Given the description of an element on the screen output the (x, y) to click on. 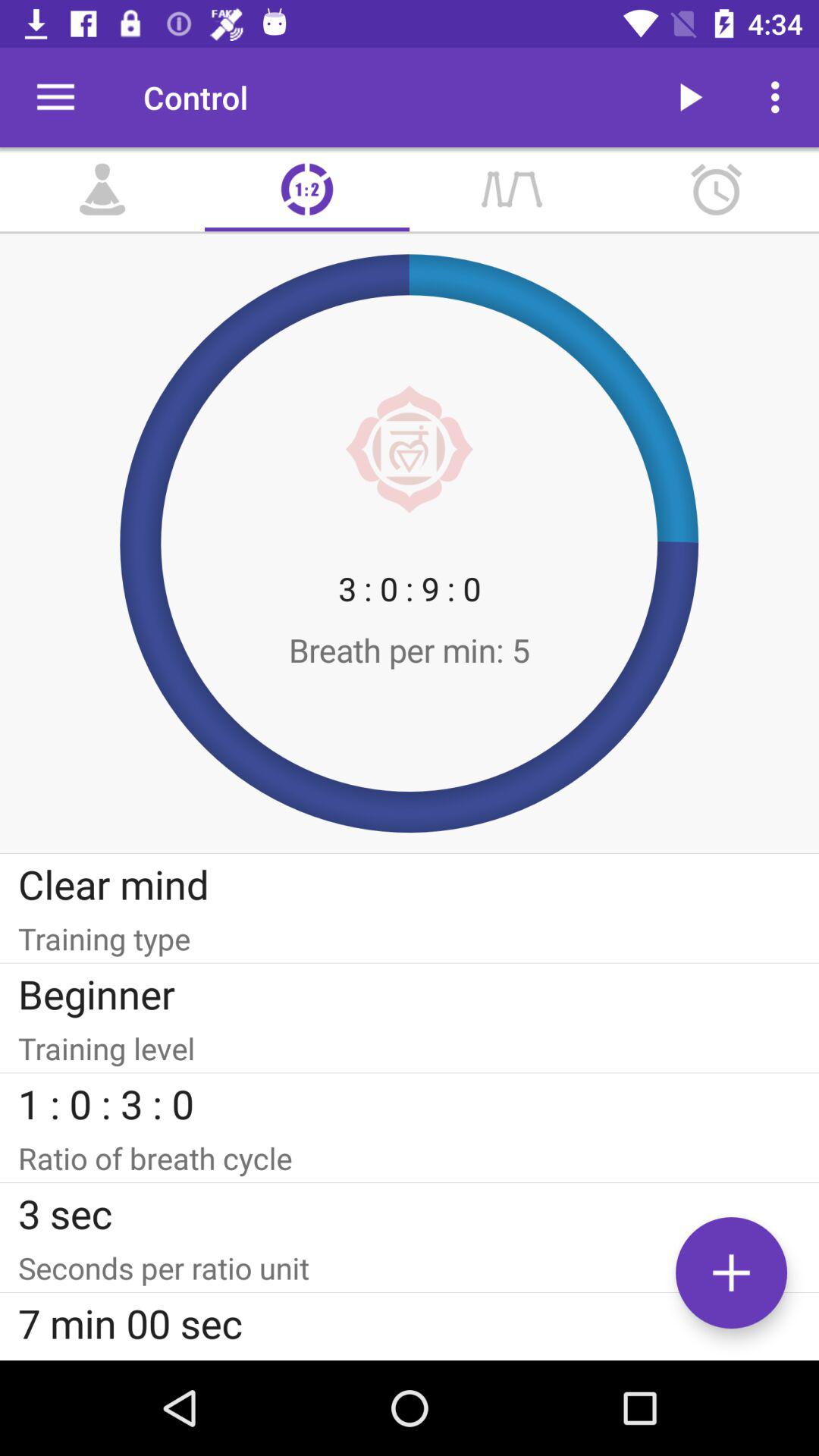
scroll until the training level item (409, 1048)
